Given the description of an element on the screen output the (x, y) to click on. 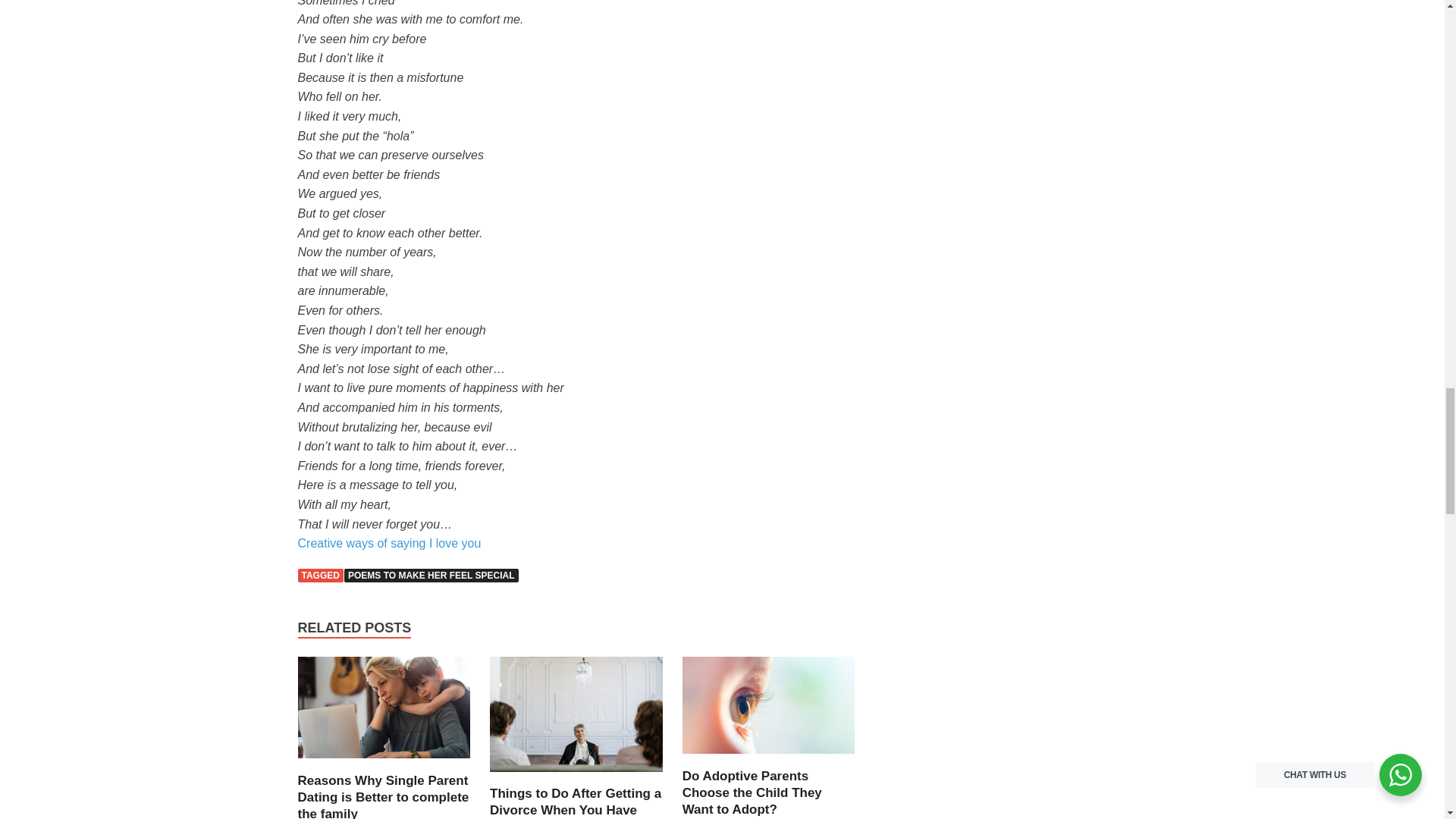
Things to Do After Getting a Divorce When You Have Kids (575, 802)
Things to Do After Getting a Divorce When You Have Kids (575, 775)
Do Adoptive Parents Choose the Child They Want to Adopt? (752, 792)
Creative ways of saying I love you (388, 543)
Do Adoptive Parents Choose the Child They Want to Adopt? (769, 758)
